Given the description of an element on the screen output the (x, y) to click on. 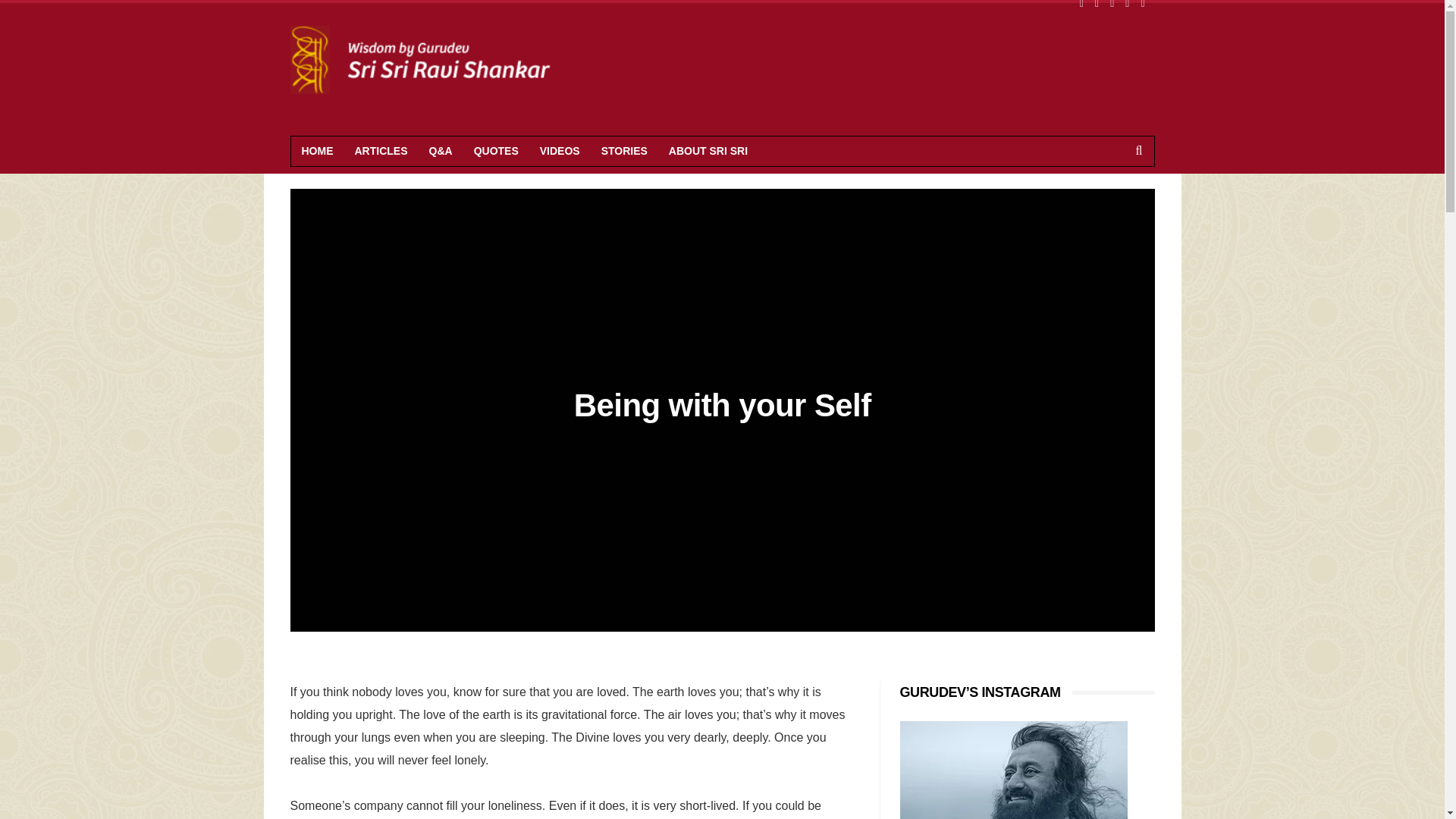
STORIES (624, 151)
VIDEOS (560, 151)
HOME (317, 151)
ARTICLES (381, 151)
ABOUT SRI SRI (708, 151)
QUOTES (496, 151)
